Given the description of an element on the screen output the (x, y) to click on. 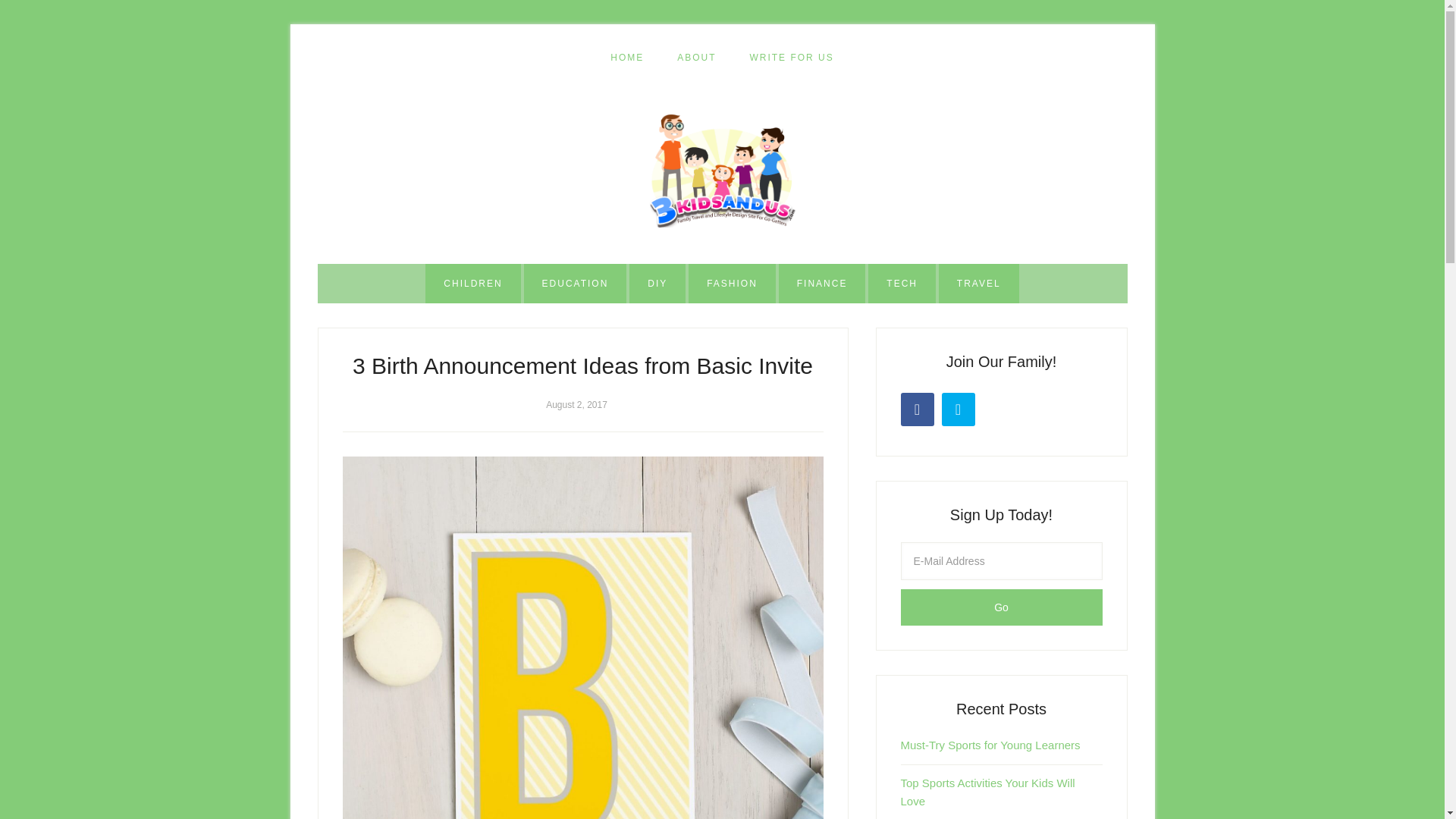
Go (1001, 606)
Go (1001, 606)
CHILDREN (472, 283)
TRAVEL (979, 283)
FINANCE (822, 283)
3 Kids and Us (721, 170)
EDUCATION (575, 283)
3 Birth Announcement Ideas from Basic Invite (582, 365)
WRITE FOR US (790, 57)
ABOUT (696, 57)
HOME (627, 57)
Must-Try Sports for Young Learners (990, 744)
FASHION (732, 283)
Top Sports Activities Your Kids Will Love (988, 791)
TECH (901, 283)
